Given the description of an element on the screen output the (x, y) to click on. 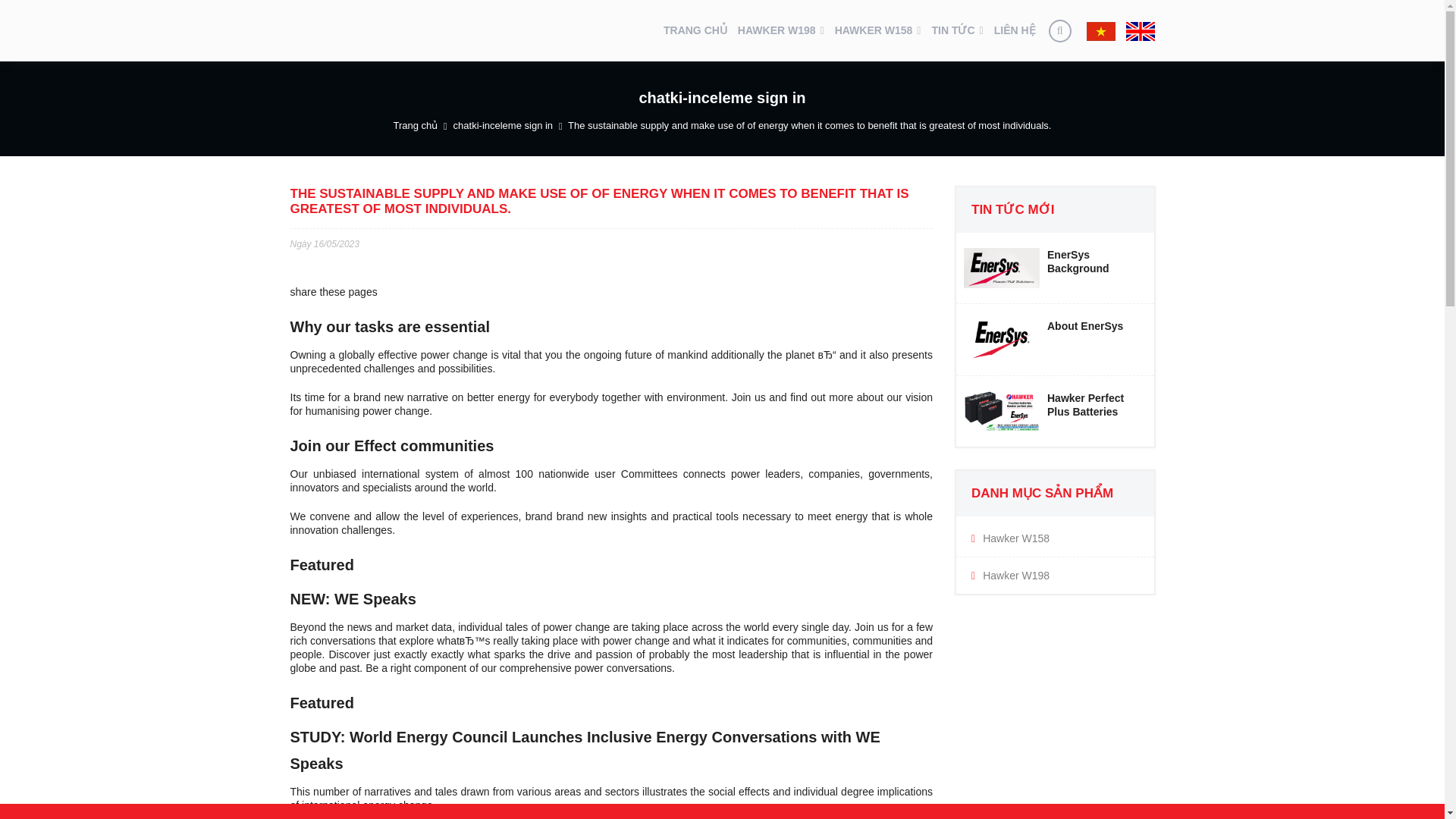
Hawker Perfect Plus Batteries (1055, 411)
About EnerSys (1055, 339)
HAWKER W158 (877, 30)
EnerSys Background (1055, 268)
HAWKER W198 (780, 30)
chatki-inceleme sign in (502, 125)
